Given the description of an element on the screen output the (x, y) to click on. 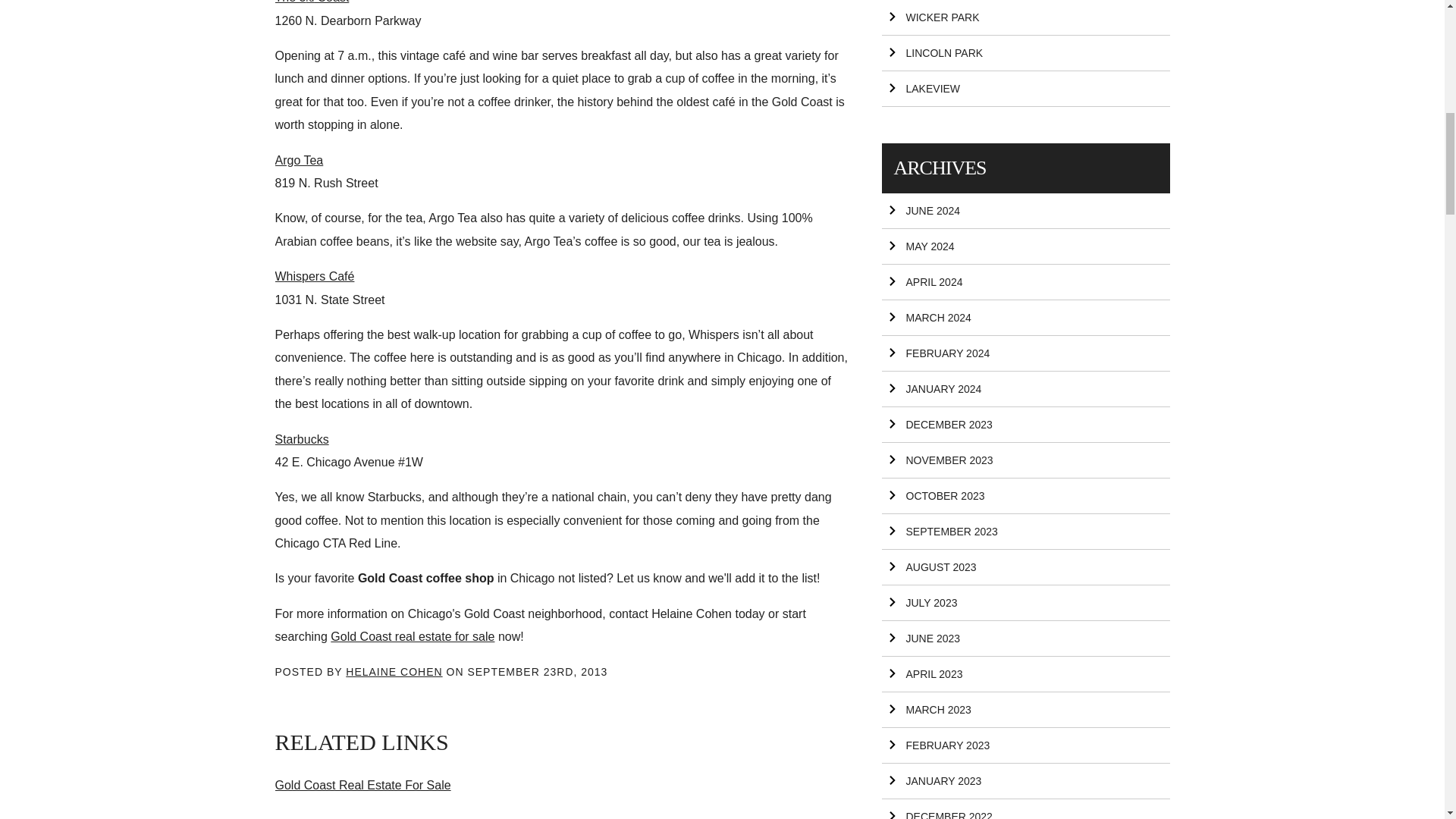
Gold Coast Real Estate For Sale (412, 635)
Gold Coast Real Estate For Sale (362, 784)
